Given the description of an element on the screen output the (x, y) to click on. 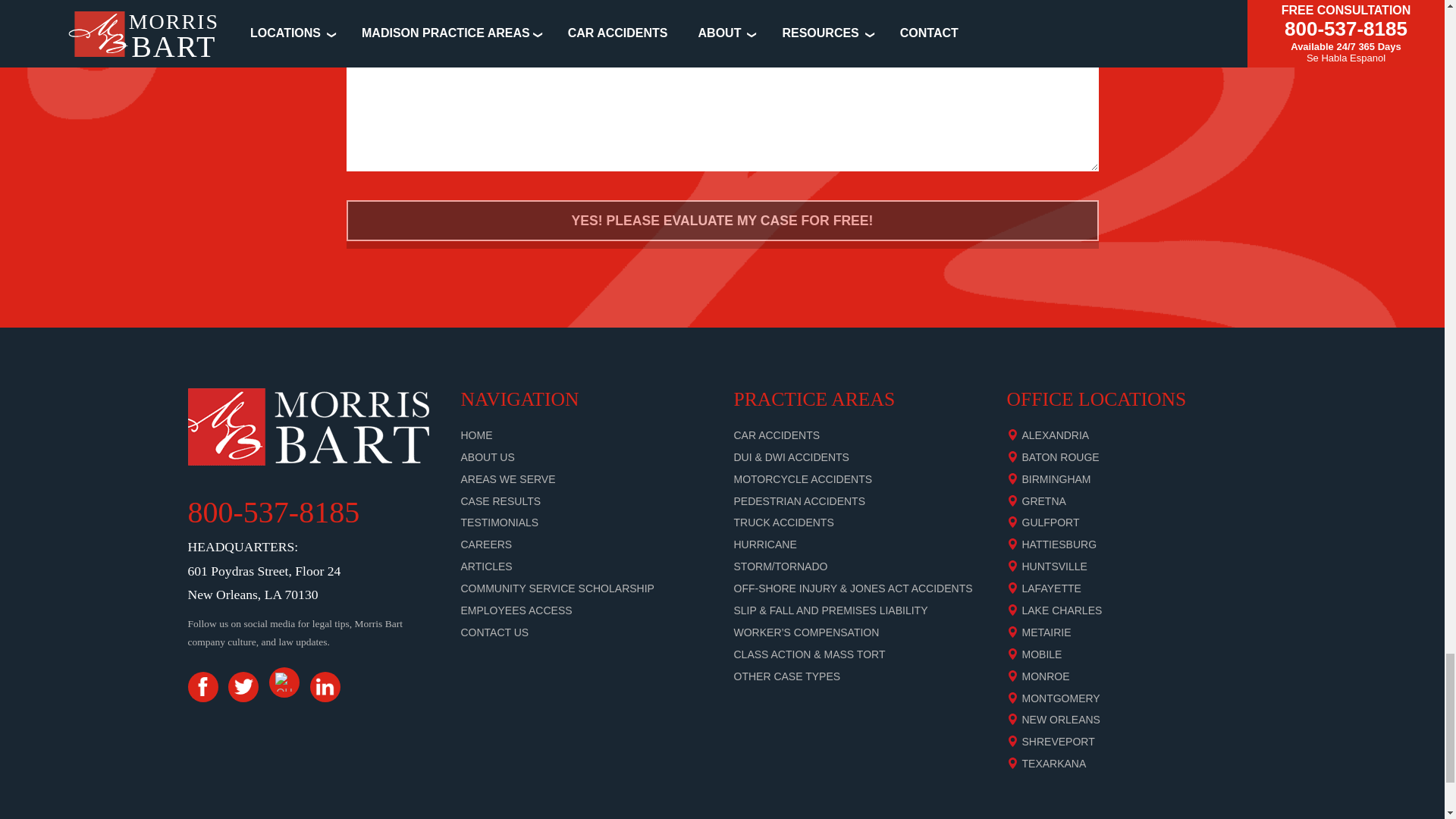
About us (488, 457)
Testimonials (499, 522)
Yes! Please Evaluate My Case For Free! (721, 219)
Articles (486, 566)
Careers (486, 544)
Areas We Serve (508, 479)
Case results (501, 500)
